Given the description of an element on the screen output the (x, y) to click on. 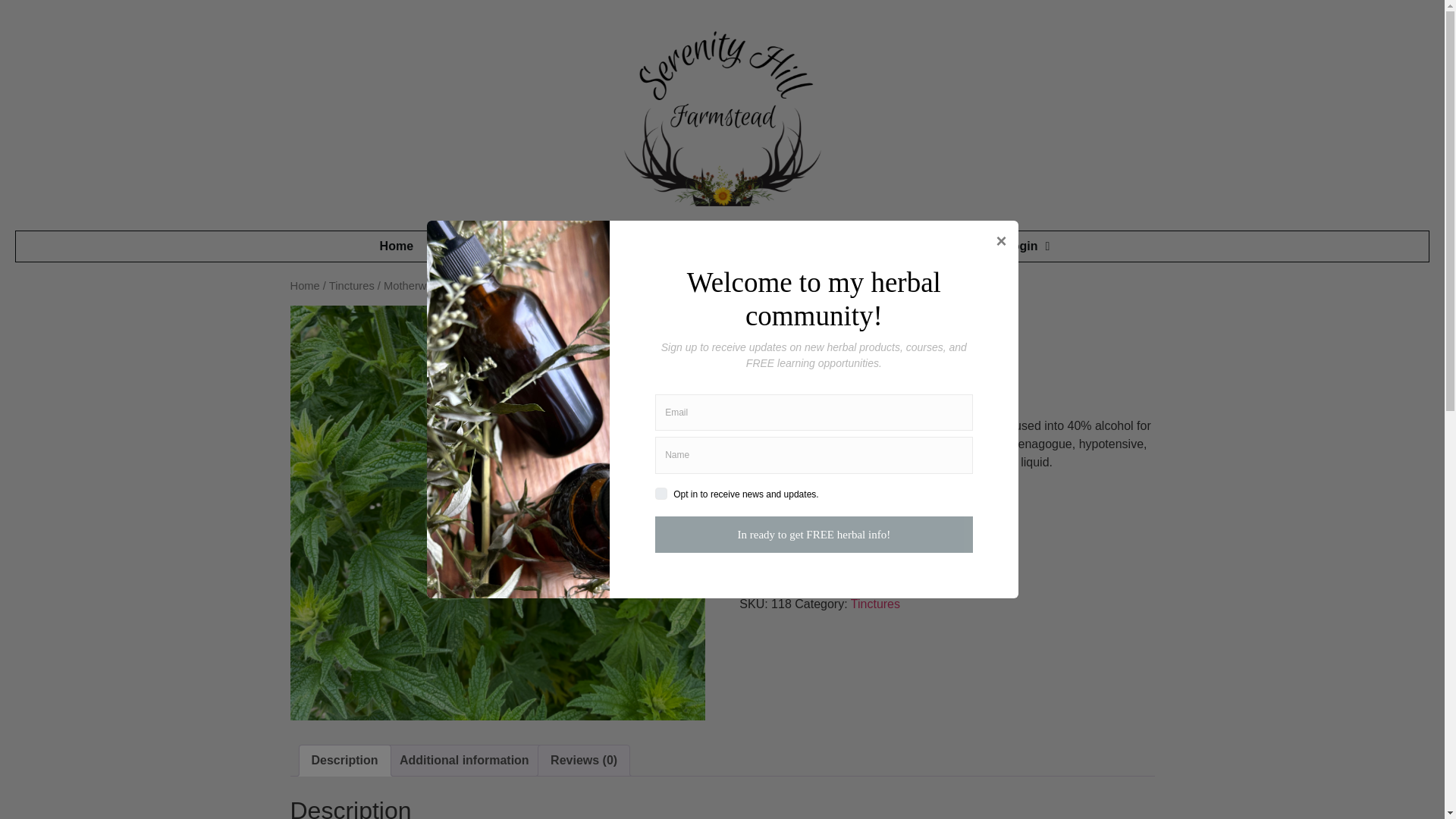
Blog (566, 246)
The Herbal Collective (820, 246)
Cart (943, 246)
Home (396, 246)
Login (1026, 246)
About (480, 246)
1 (761, 554)
Herb Store (672, 246)
